Given the description of an element on the screen output the (x, y) to click on. 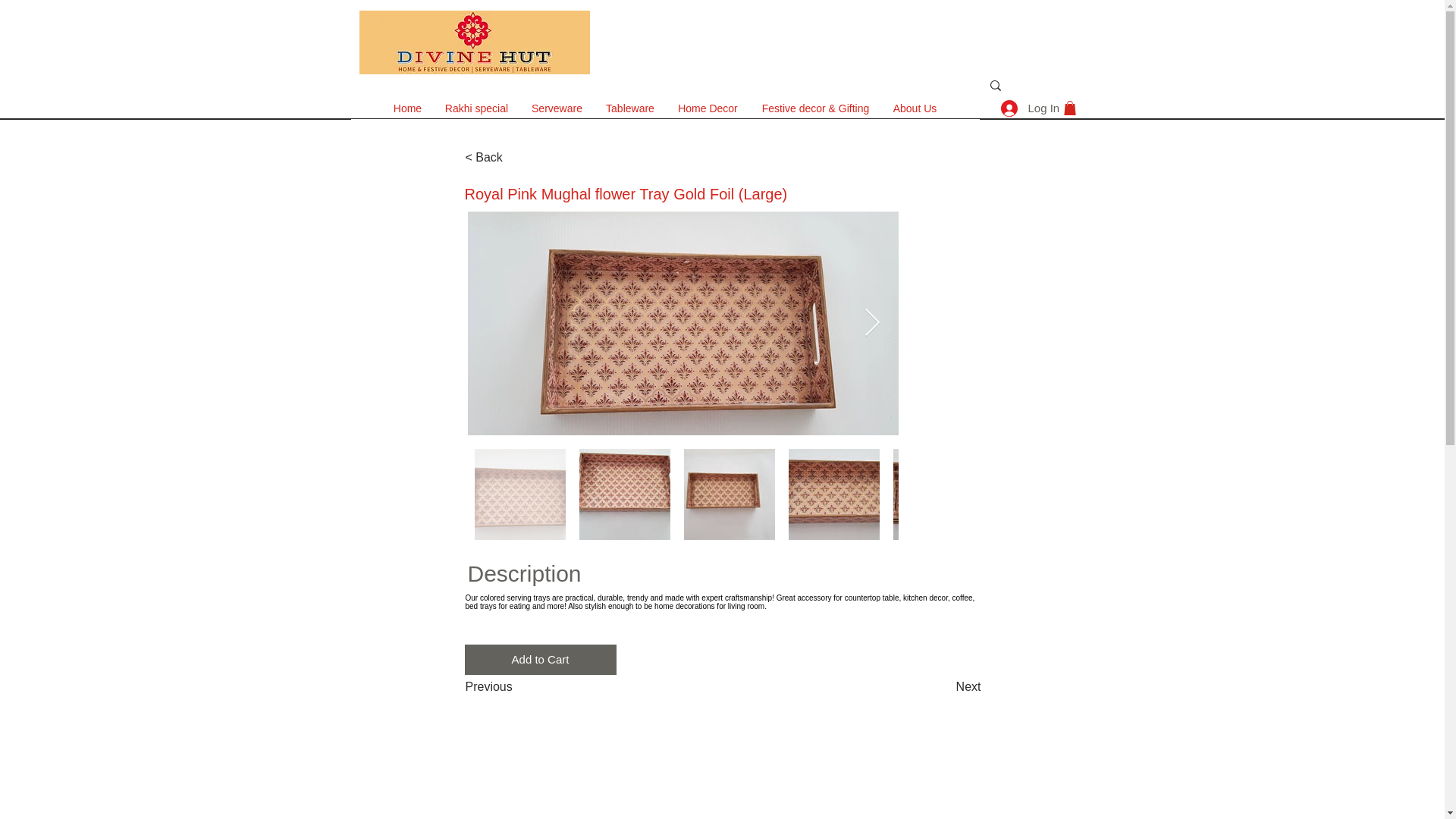
Home (407, 107)
About Us (913, 107)
Rakhi special (476, 107)
Next (943, 686)
Add to Cart (539, 659)
Log In (1017, 108)
Previous (515, 686)
